Given the description of an element on the screen output the (x, y) to click on. 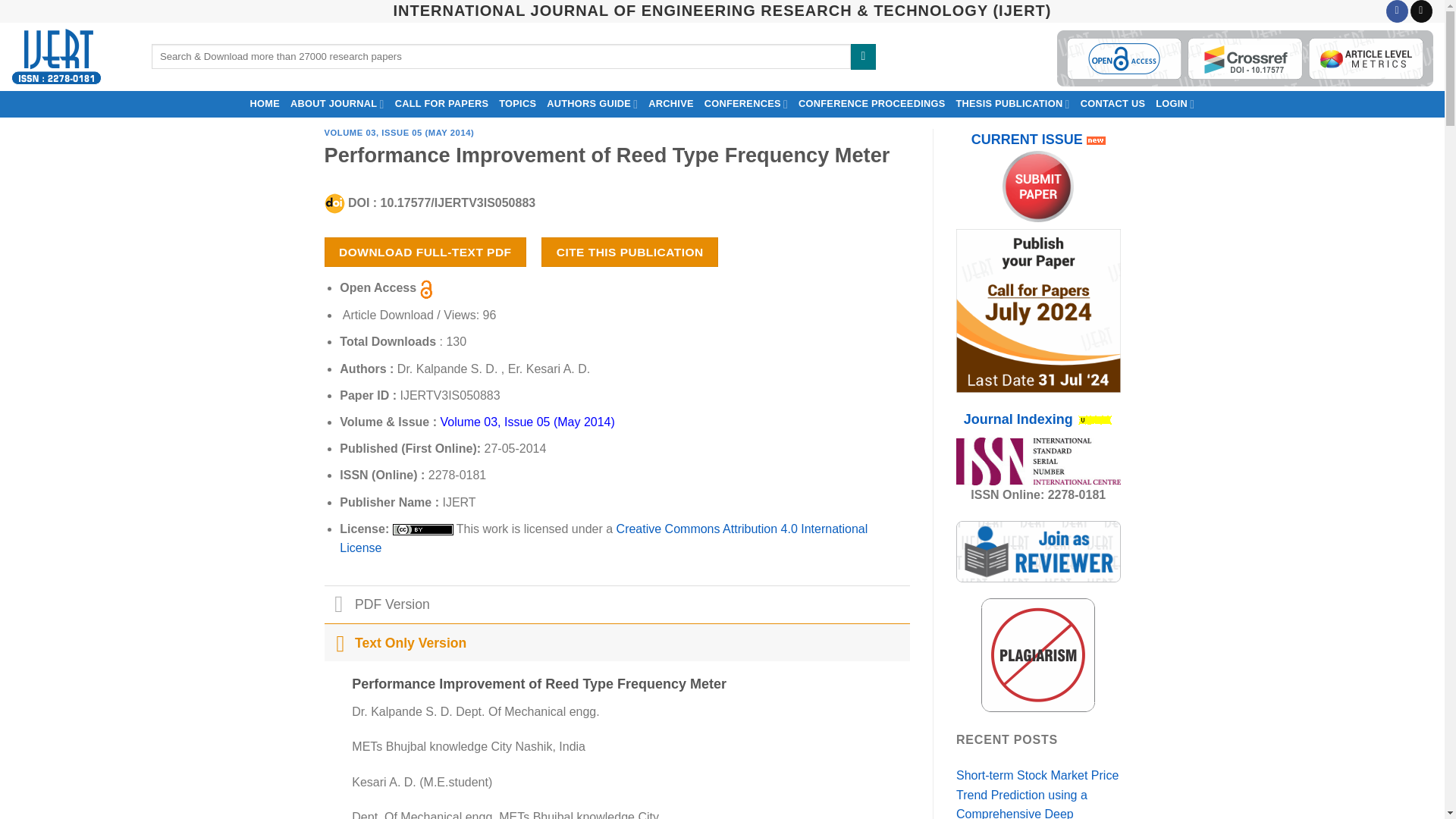
CALL FOR PAPERS (442, 103)
HOME (264, 103)
AUTHORS GUIDE (592, 103)
CONFERENCE PROCEEDINGS (871, 103)
LOGIN (1174, 103)
ARCHIVE (670, 103)
TOPICS (517, 103)
Follow on Facebook (1396, 11)
Send us an email (1421, 11)
THESIS PUBLICATION (1012, 103)
ABOUT JOURNAL (337, 103)
CONFERENCES (745, 103)
CONTACT US (1113, 103)
